Given the description of an element on the screen output the (x, y) to click on. 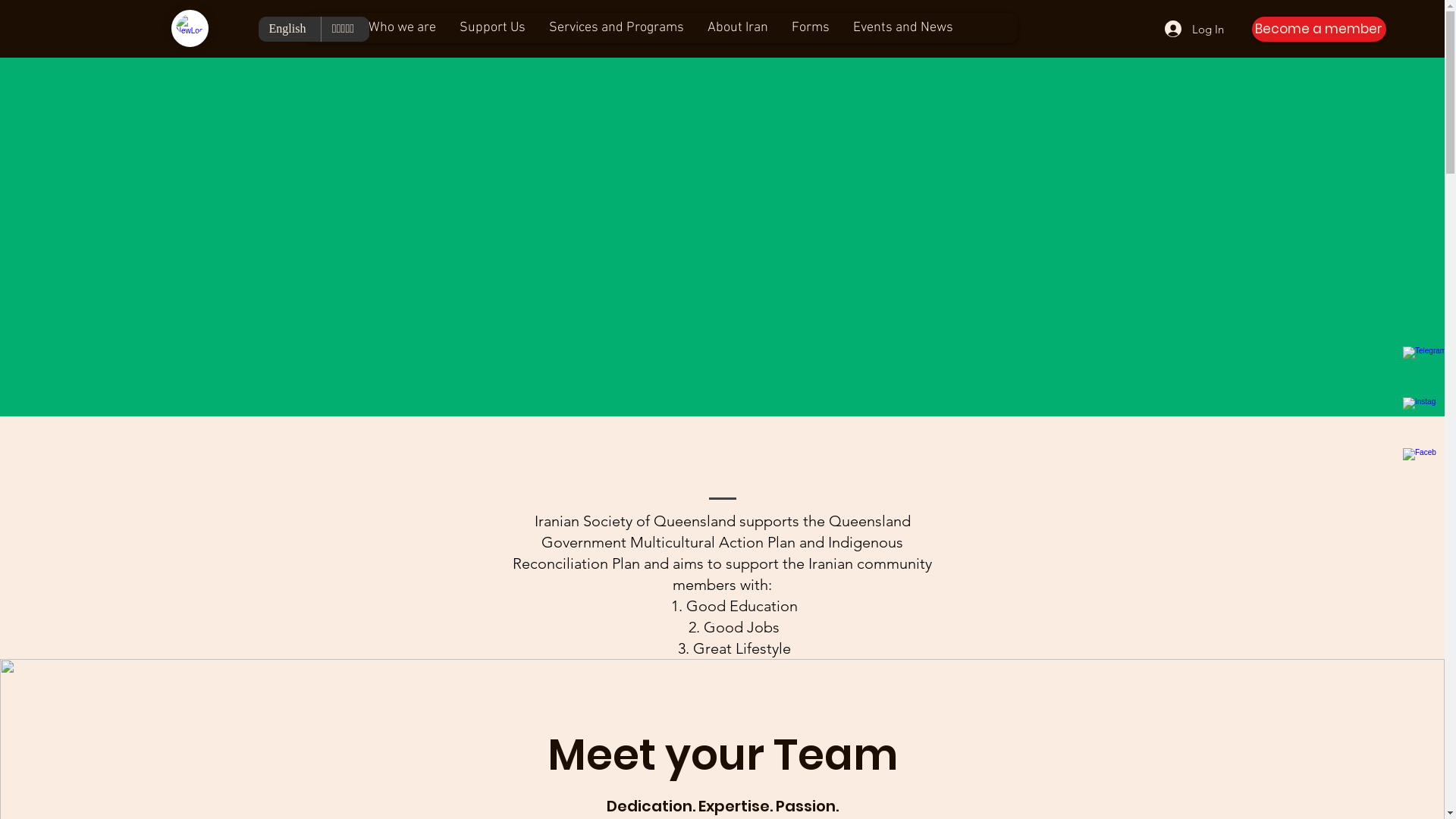
Become a member Element type: text (1319, 28)
Log In Element type: text (1183, 28)
About Iran Element type: text (737, 27)
Support Us Element type: text (491, 27)
Forms Element type: text (809, 27)
Who we are Element type: text (401, 27)
Services and Programs Element type: text (615, 27)
English Element type: text (288, 28)
Events and News Element type: text (902, 27)
